Given the description of an element on the screen output the (x, y) to click on. 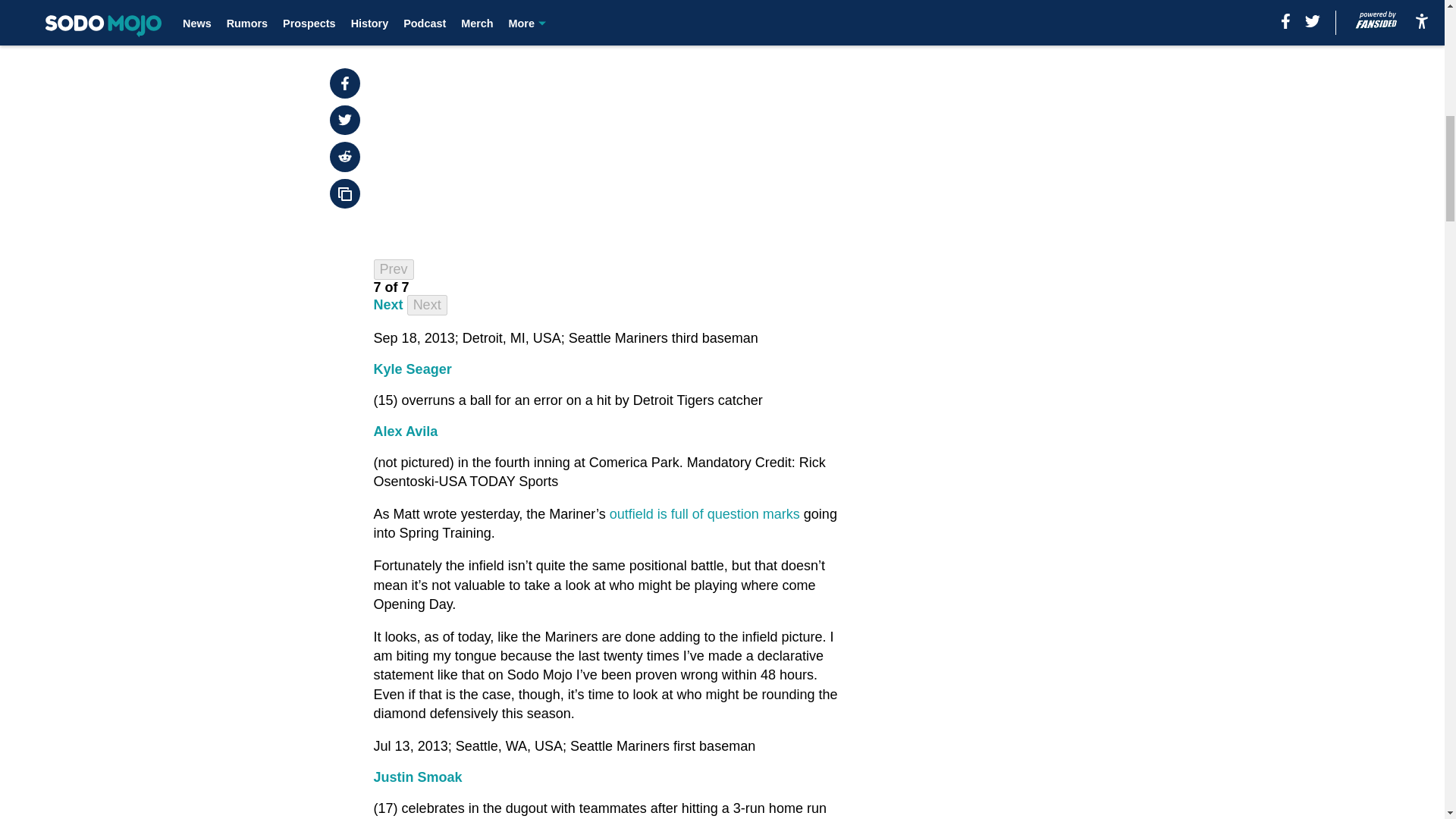
outfield is full of question marks (704, 513)
Justin Smoak (418, 776)
Kyle Seager (412, 368)
Next (388, 304)
Alex Avila (406, 431)
Prev (393, 269)
Next (426, 304)
